Given the description of an element on the screen output the (x, y) to click on. 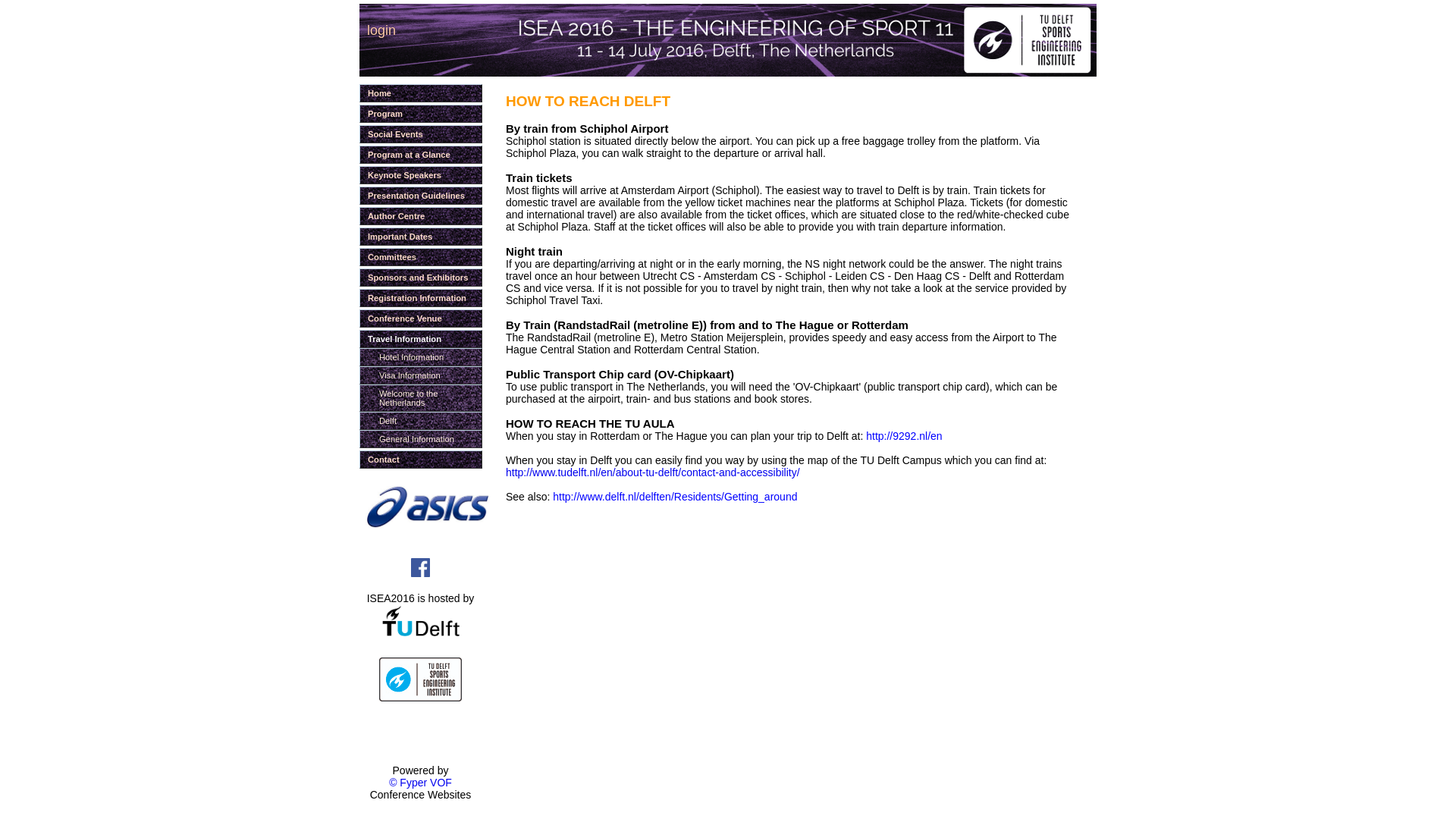
Home (420, 93)
Program at a Glance (420, 154)
Visa Information (420, 375)
login (381, 29)
Visiti the ISEA 2016 facebook page (419, 567)
Sponsors and Exhibitors (420, 277)
Welcome to the Netherlands (420, 397)
Committees (420, 257)
Presentation Guidelines (420, 195)
Registration Information (420, 298)
Conference Venue (420, 318)
Delft (420, 420)
Important Dates (420, 236)
Hotel Information (420, 357)
Program (420, 113)
